Given the description of an element on the screen output the (x, y) to click on. 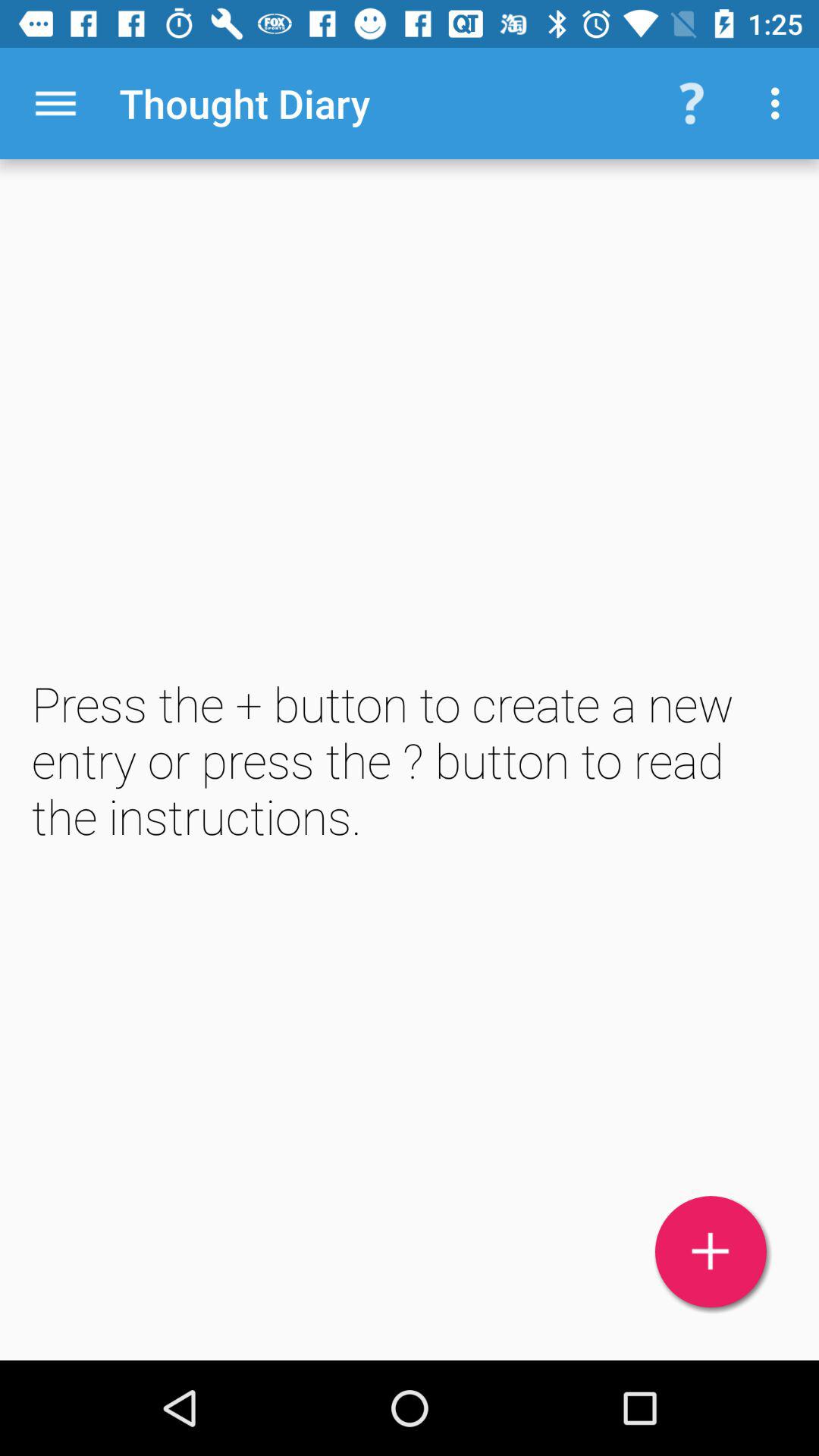
open app above press the button icon (55, 103)
